Given the description of an element on the screen output the (x, y) to click on. 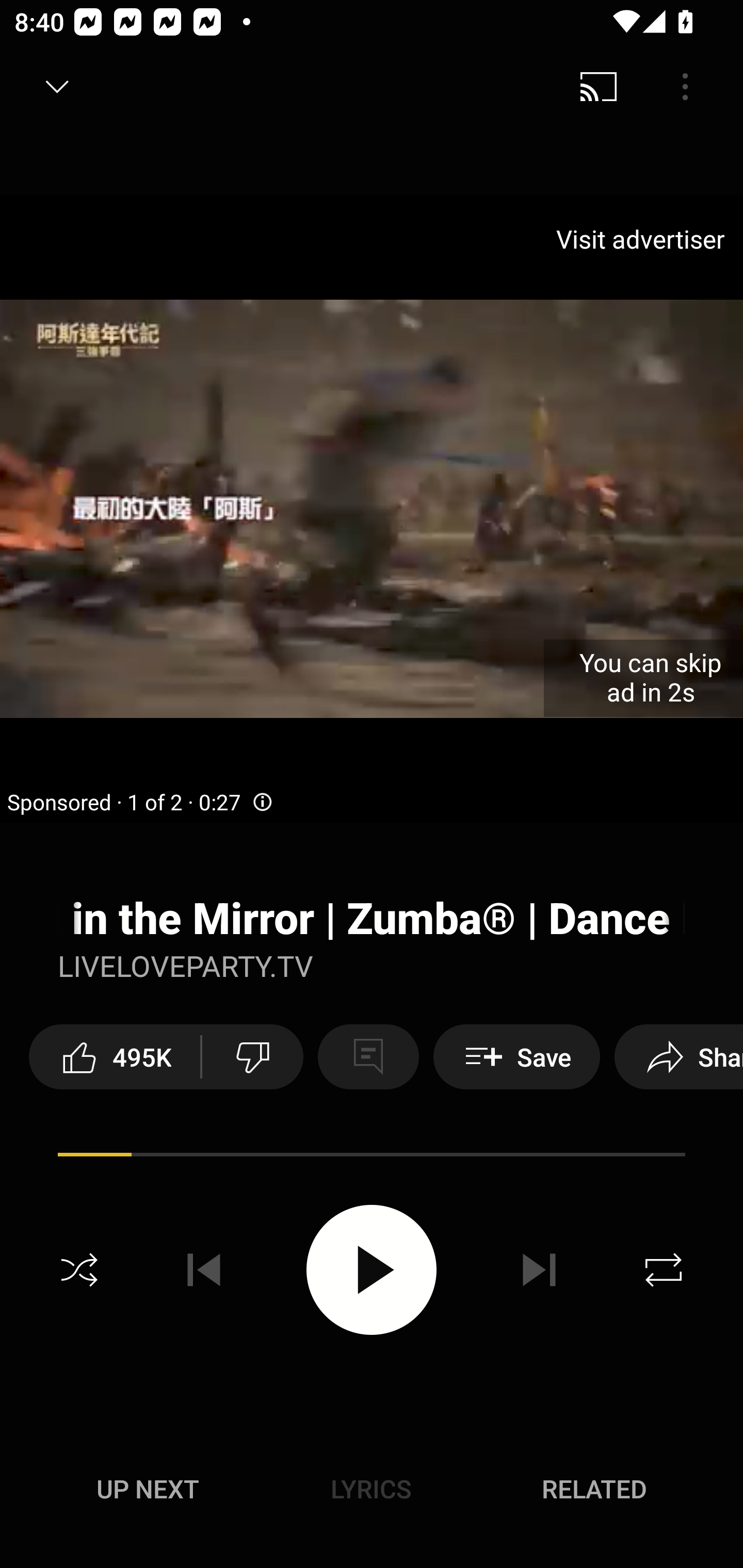
Search back (43, 86)
Cast. Disconnected (598, 86)
Menu (684, 86)
Visit advertiser (644, 239)
You can skip ad in 2s Skip ad in 2 seconds (643, 678)
Sponsored · 1 of 2 · 0:27 (140, 802)
Dislike (252, 1056)
Comments disabled. (368, 1056)
Save Save to playlist (516, 1056)
Share (678, 1056)
Play video (371, 1269)
Shuffle off (79, 1269)
Previous track disabled (203, 1269)
Next track disabled (538, 1269)
Repeat off (663, 1269)
Up next UP NEXT Lyrics LYRICS Related RELATED (371, 1491)
Lyrics LYRICS (370, 1488)
Related RELATED (594, 1488)
